Given the description of an element on the screen output the (x, y) to click on. 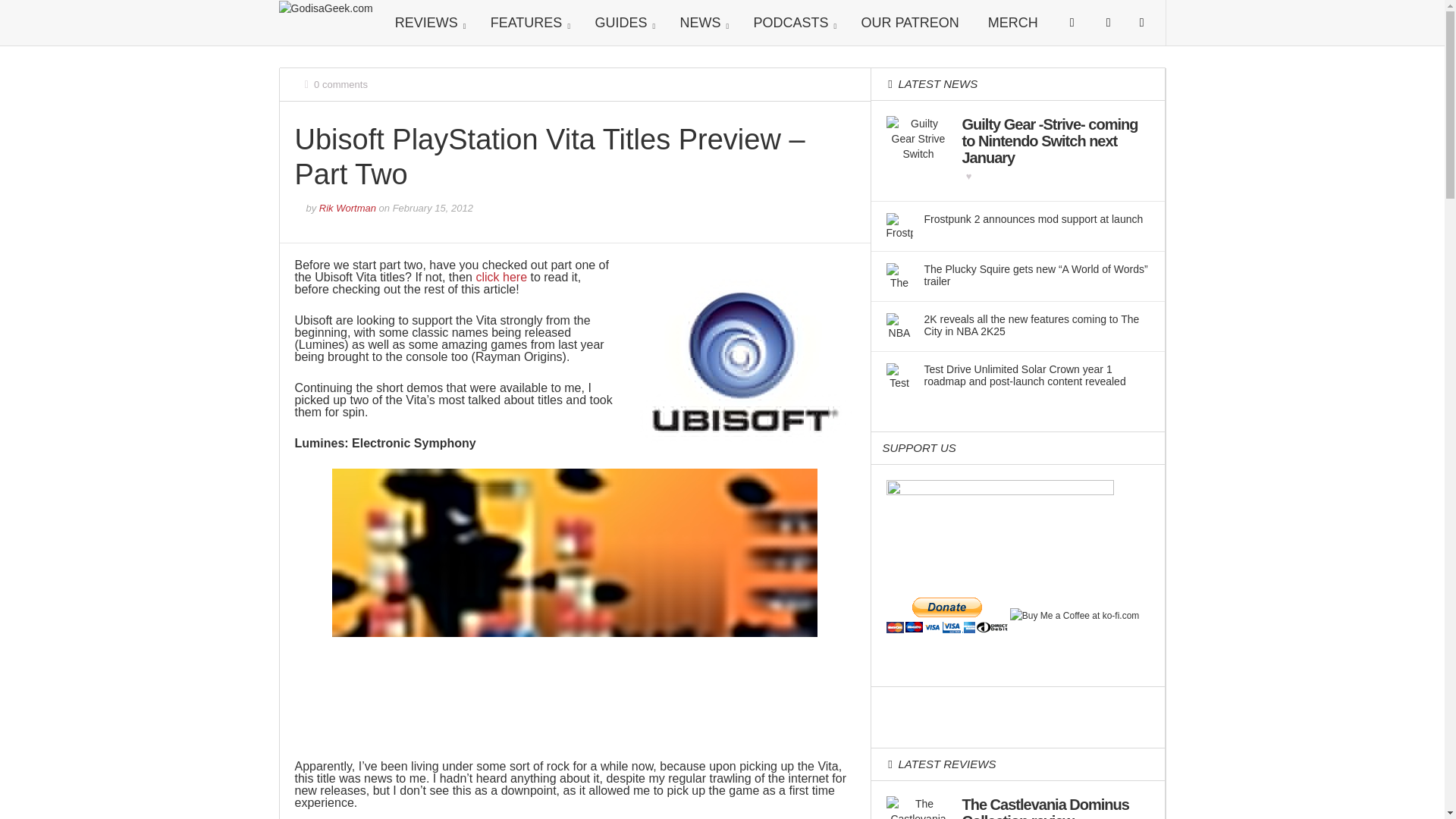
NEWS (701, 22)
FEATURES (528, 22)
PODCASTS (791, 22)
REVIEWS (428, 22)
GUIDES (622, 22)
Home (325, 7)
